Given the description of an element on the screen output the (x, y) to click on. 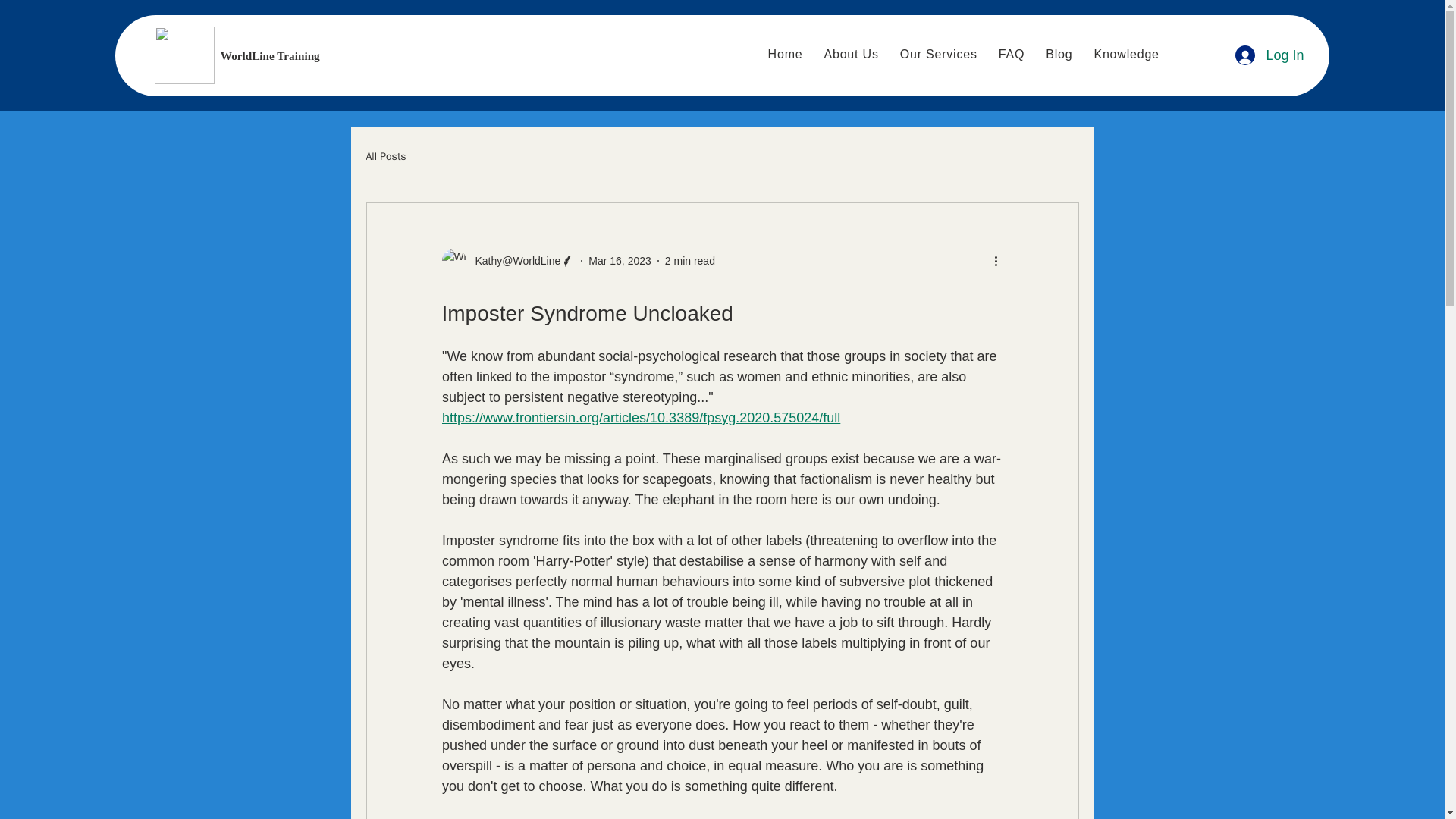
Knowledge (1126, 54)
Home (785, 54)
About Us (850, 54)
2 min read (689, 260)
All Posts (385, 156)
Log In (1269, 54)
Mar 16, 2023 (619, 260)
Blog (1059, 54)
FAQ (1011, 54)
Our Services (938, 54)
